Given the description of an element on the screen output the (x, y) to click on. 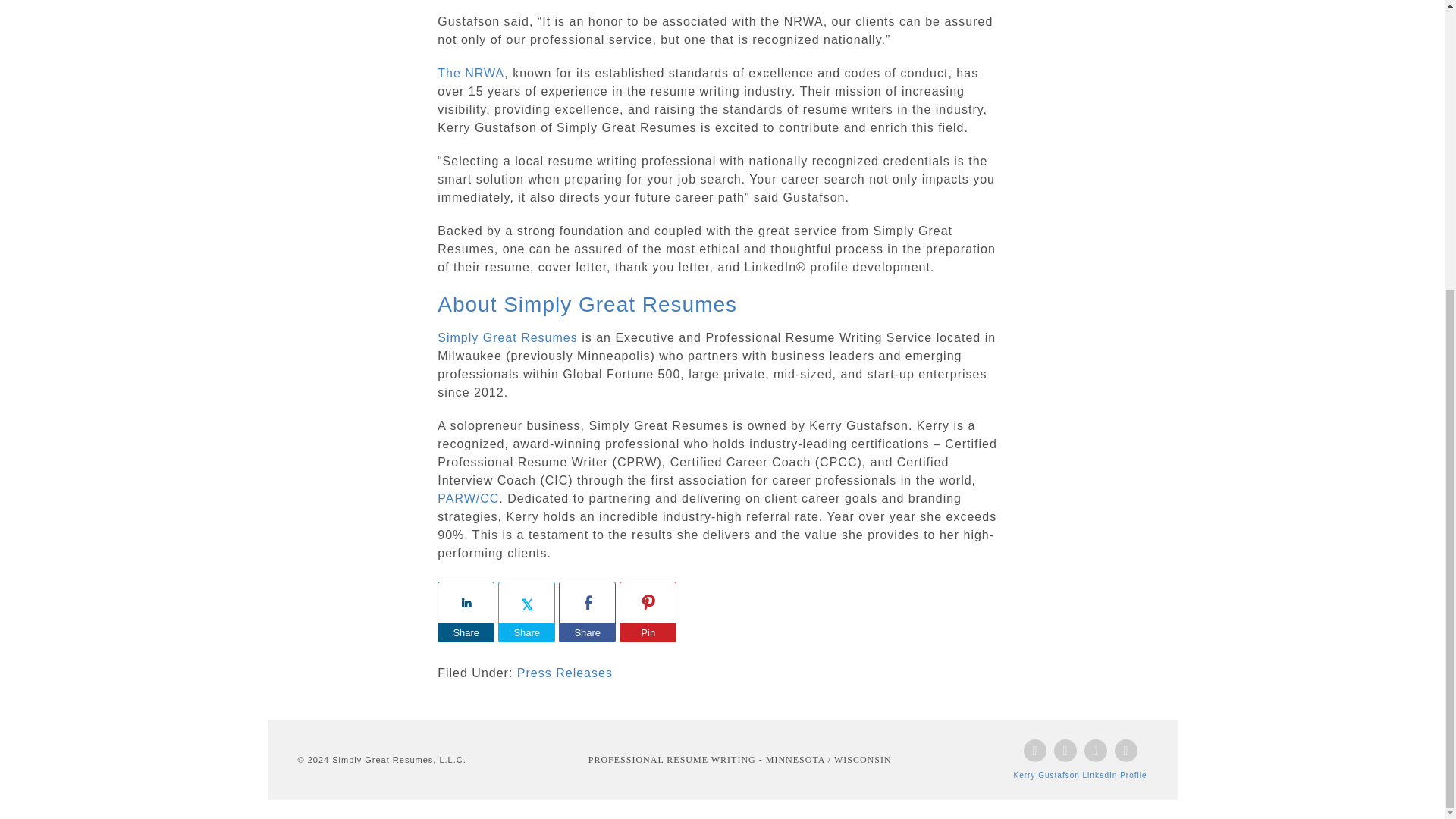
The NRWA (470, 72)
Share (466, 632)
Press Releases (564, 672)
Pin (648, 632)
Simply Great Resumes (508, 337)
Share (525, 632)
Share (587, 632)
